Given the description of an element on the screen output the (x, y) to click on. 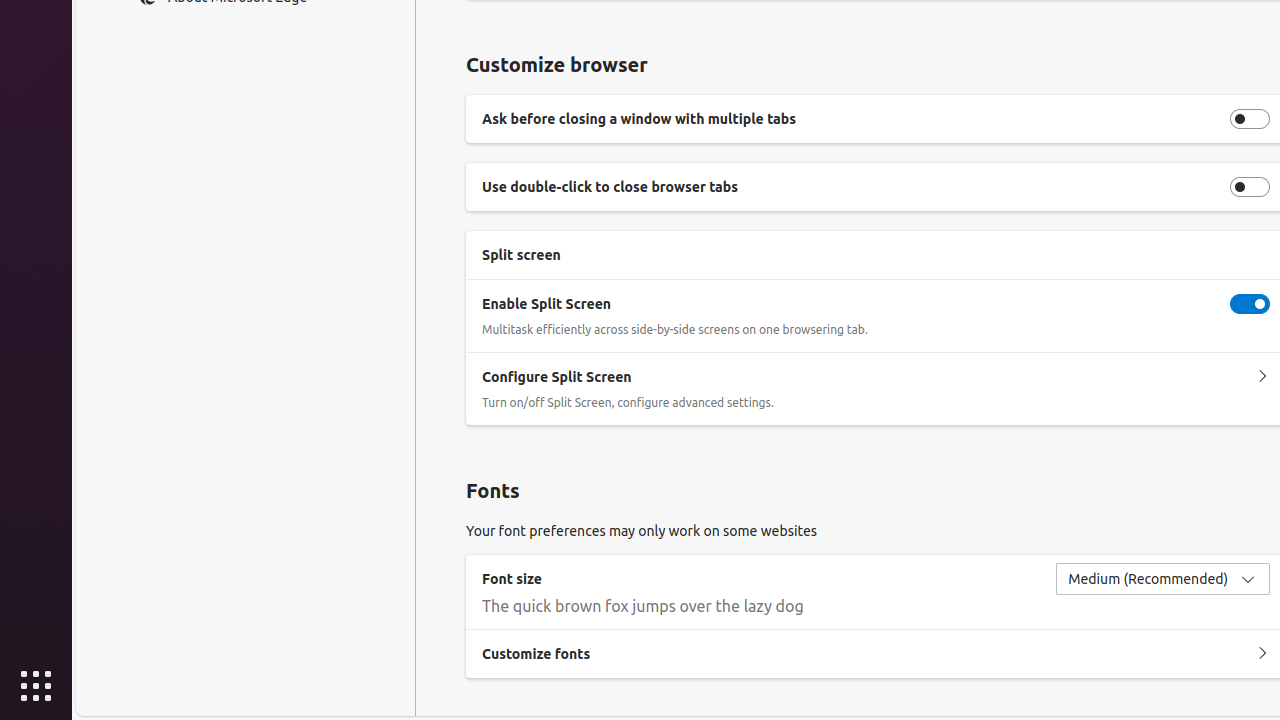
Show Applications Element type: toggle-button (36, 686)
Use double-click to close browser tabs Element type: check-box (1250, 187)
Enable Split Screen Element type: check-box (1250, 304)
Ask before closing a window with multiple tabs Element type: check-box (1250, 118)
Configure Split Screen Element type: push-button (1262, 377)
